Given the description of an element on the screen output the (x, y) to click on. 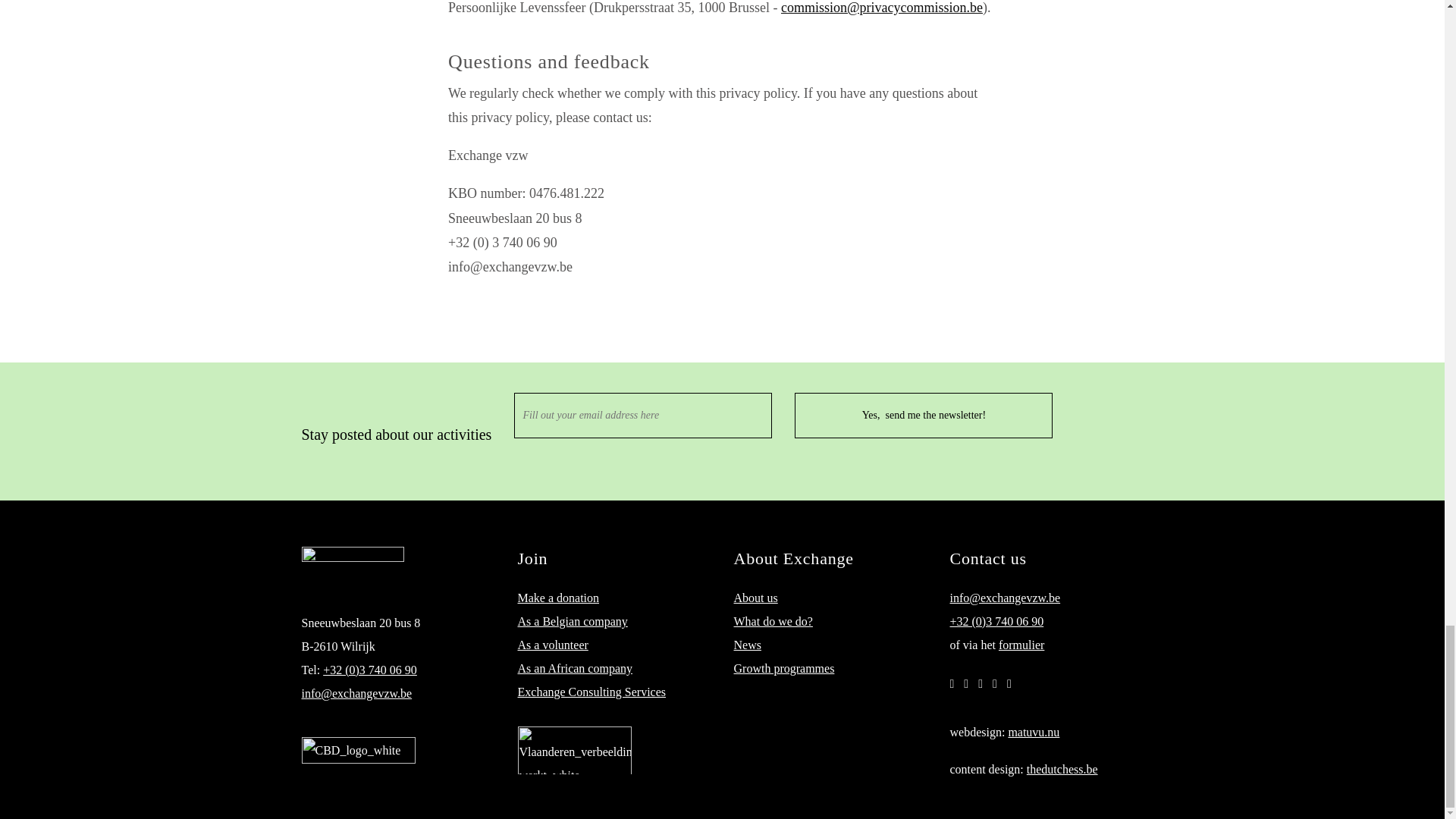
Growth programmes (783, 667)
Exchange Consulting Services (590, 691)
News (747, 644)
formulier (1020, 644)
As an African company (573, 667)
As a volunteer (552, 644)
What do we do? (772, 621)
matuvu.nu (1033, 731)
Yes,  send me the newsletter! (923, 415)
Make a donation (557, 597)
As a Belgian company (571, 621)
About us (755, 597)
Yes,  send me the newsletter! (923, 415)
